Given the description of an element on the screen output the (x, y) to click on. 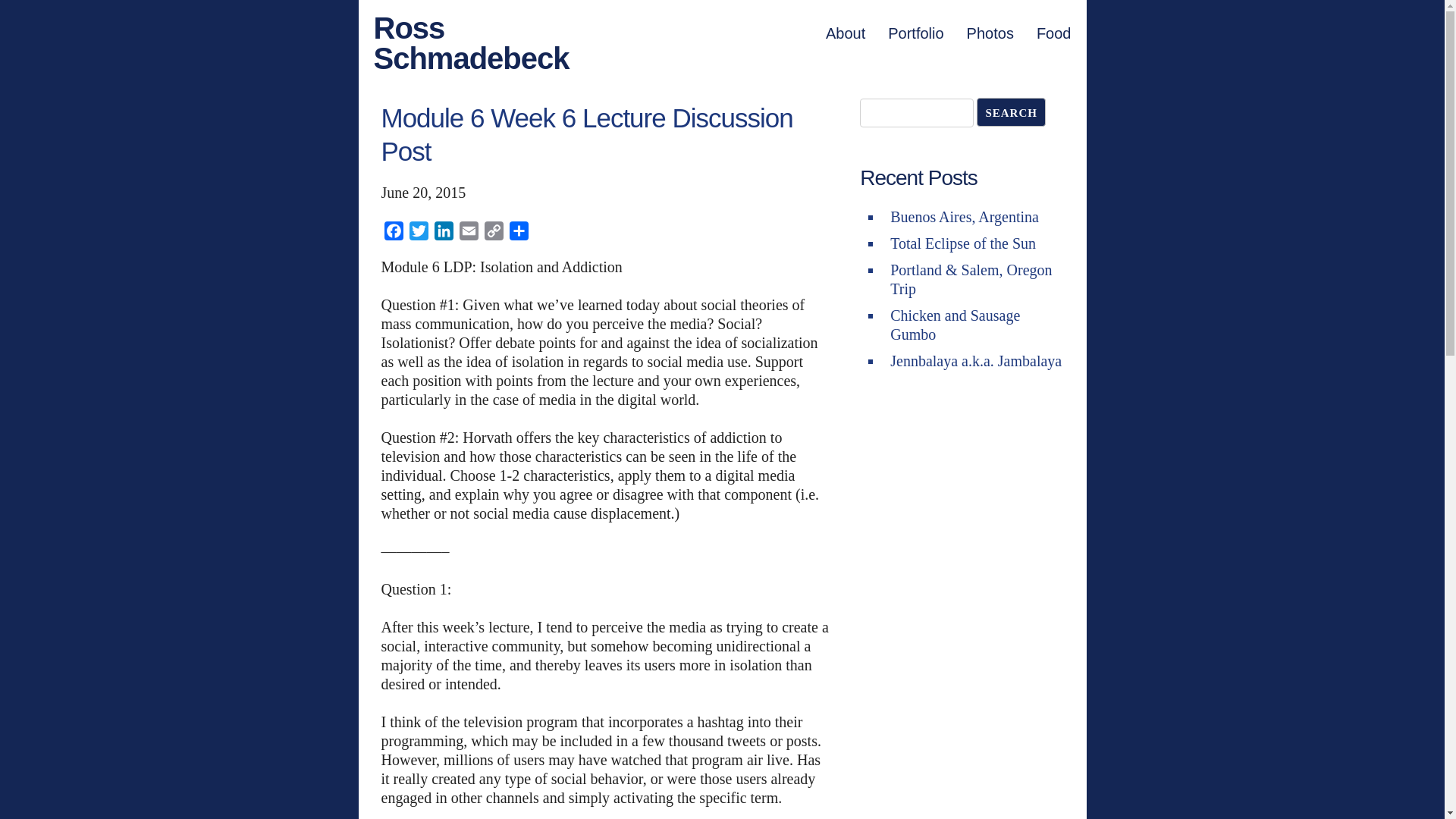
Chicken and Sausage Gumbo (954, 325)
Total Eclipse of the Sun (962, 243)
Facebook (393, 233)
Twitter (418, 233)
Portfolio (915, 33)
Photos (989, 33)
Search (1010, 111)
Facebook (393, 233)
Email (469, 233)
LinkedIn (442, 233)
